Given the description of an element on the screen output the (x, y) to click on. 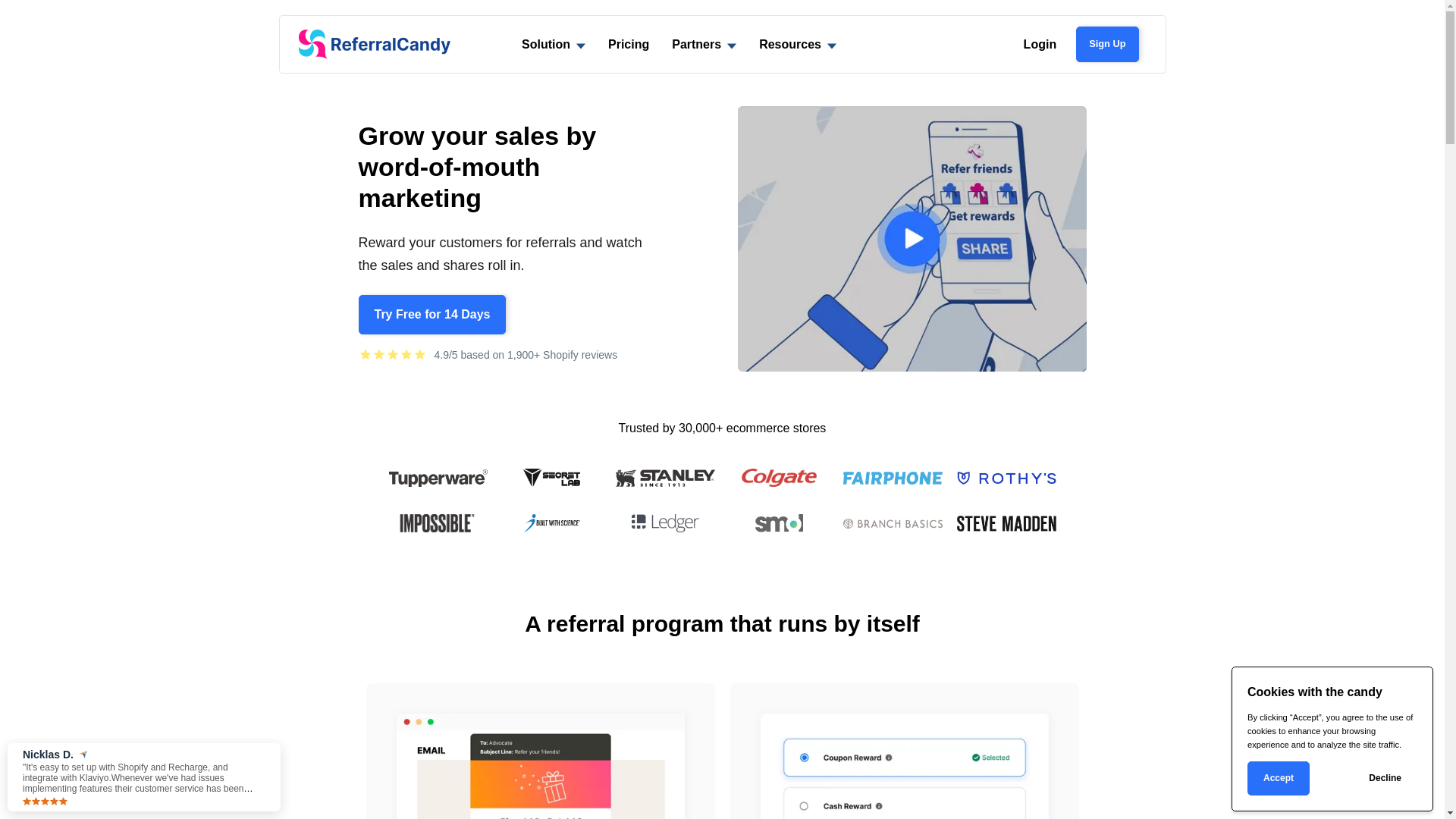
Decline Element type: text (1384, 778)
Login Element type: text (1040, 43)
Sign Up Element type: text (1107, 43)
Accept Element type: text (1278, 778)
Pricing Element type: text (628, 43)
Try Free for 14 Days Element type: text (431, 314)
